Given the description of an element on the screen output the (x, y) to click on. 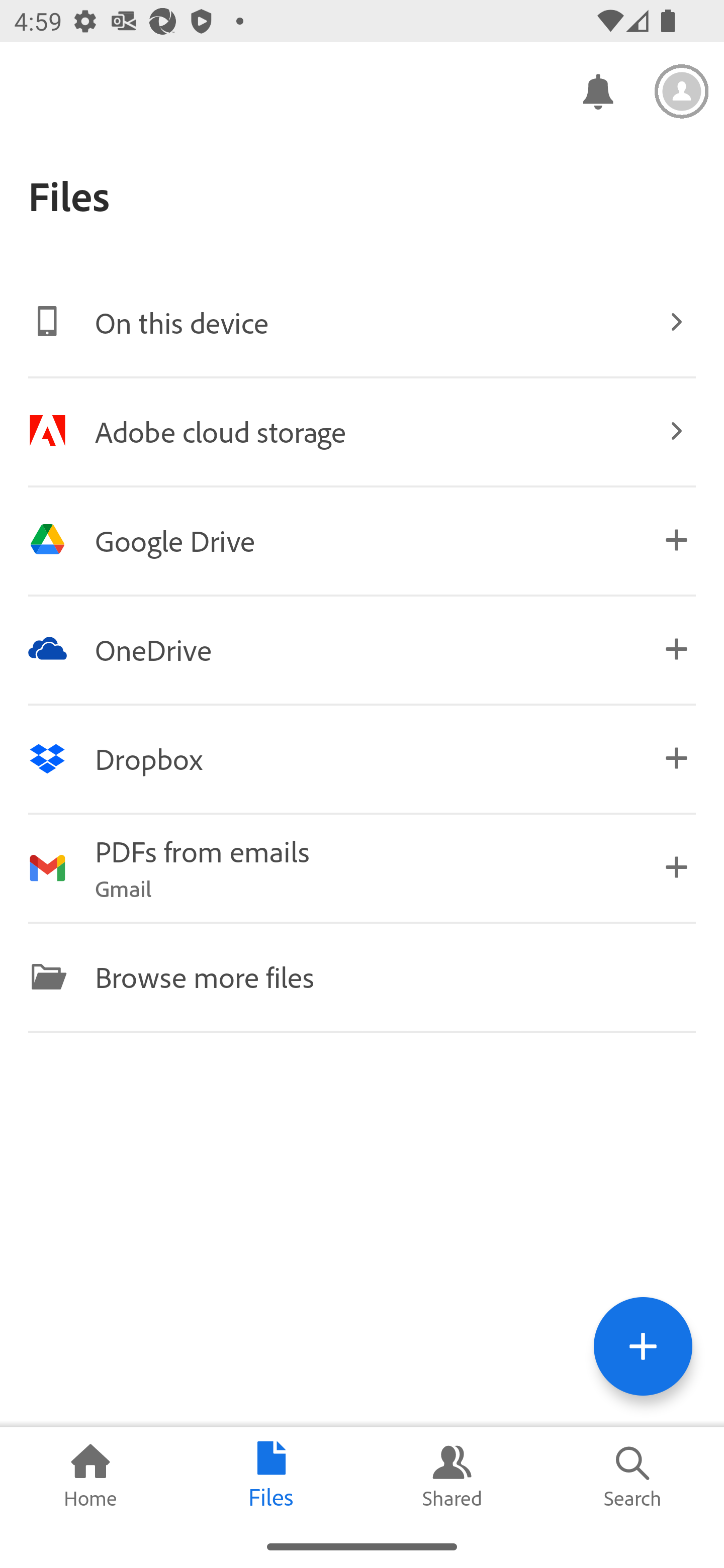
Notifications (597, 90)
Settings (681, 91)
Image On this device (362, 322)
Image Adobe cloud storage (362, 431)
Image Google Drive (362, 540)
Image OneDrive (362, 649)
Image Dropbox (362, 758)
Image PDFs from emails Gmail (362, 866)
Image Browse more files (362, 975)
Tools (642, 1345)
Home (90, 1475)
Files (271, 1475)
Shared (452, 1475)
Search (633, 1475)
